Given the description of an element on the screen output the (x, y) to click on. 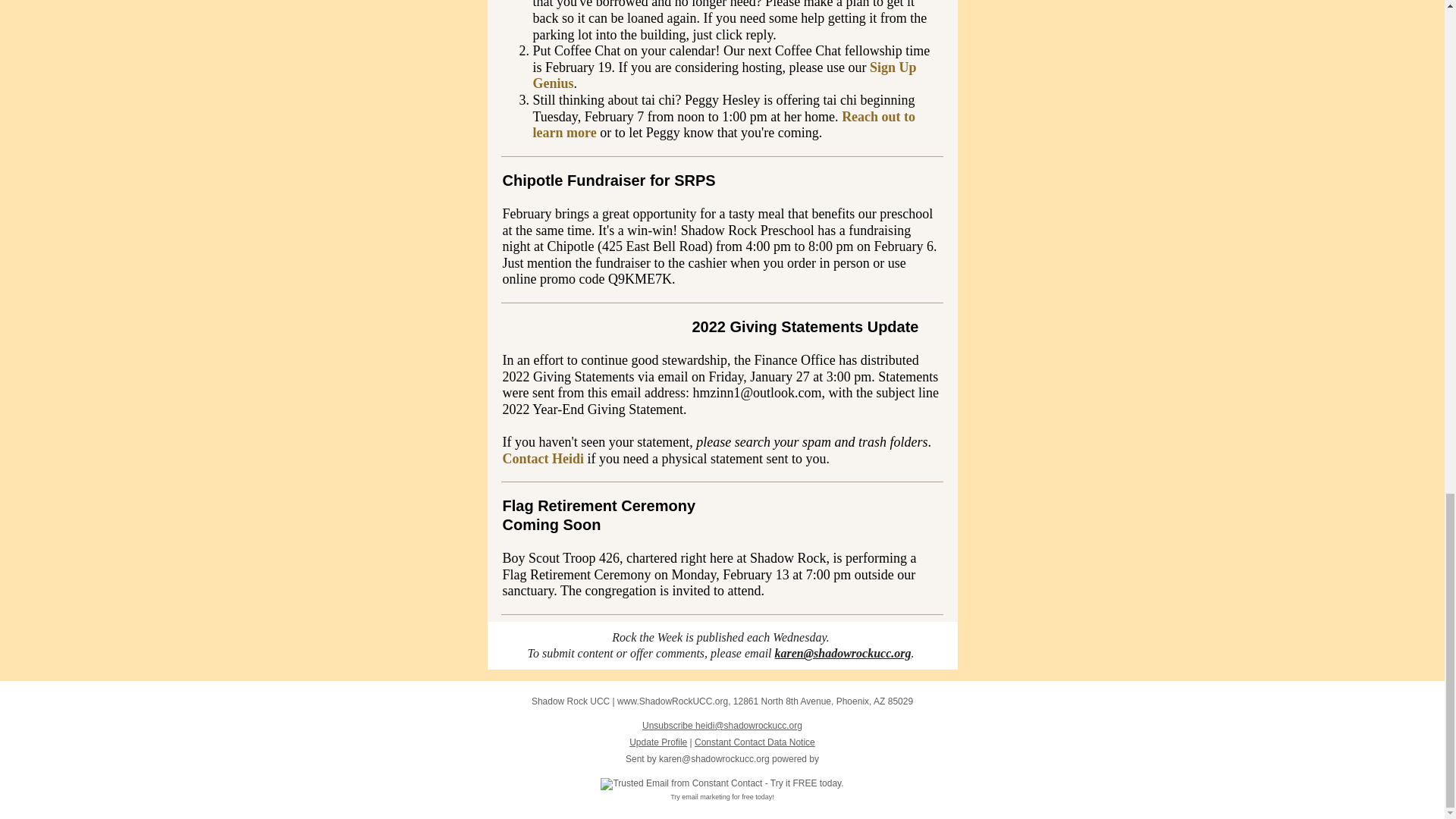
Reach out to learn more (723, 124)
Sign Up Genius (723, 75)
Constant Contact Data Notice (754, 742)
Update Profile (657, 742)
Try email marketing for free today! (721, 796)
Contact Heidi (542, 458)
